Given the description of an element on the screen output the (x, y) to click on. 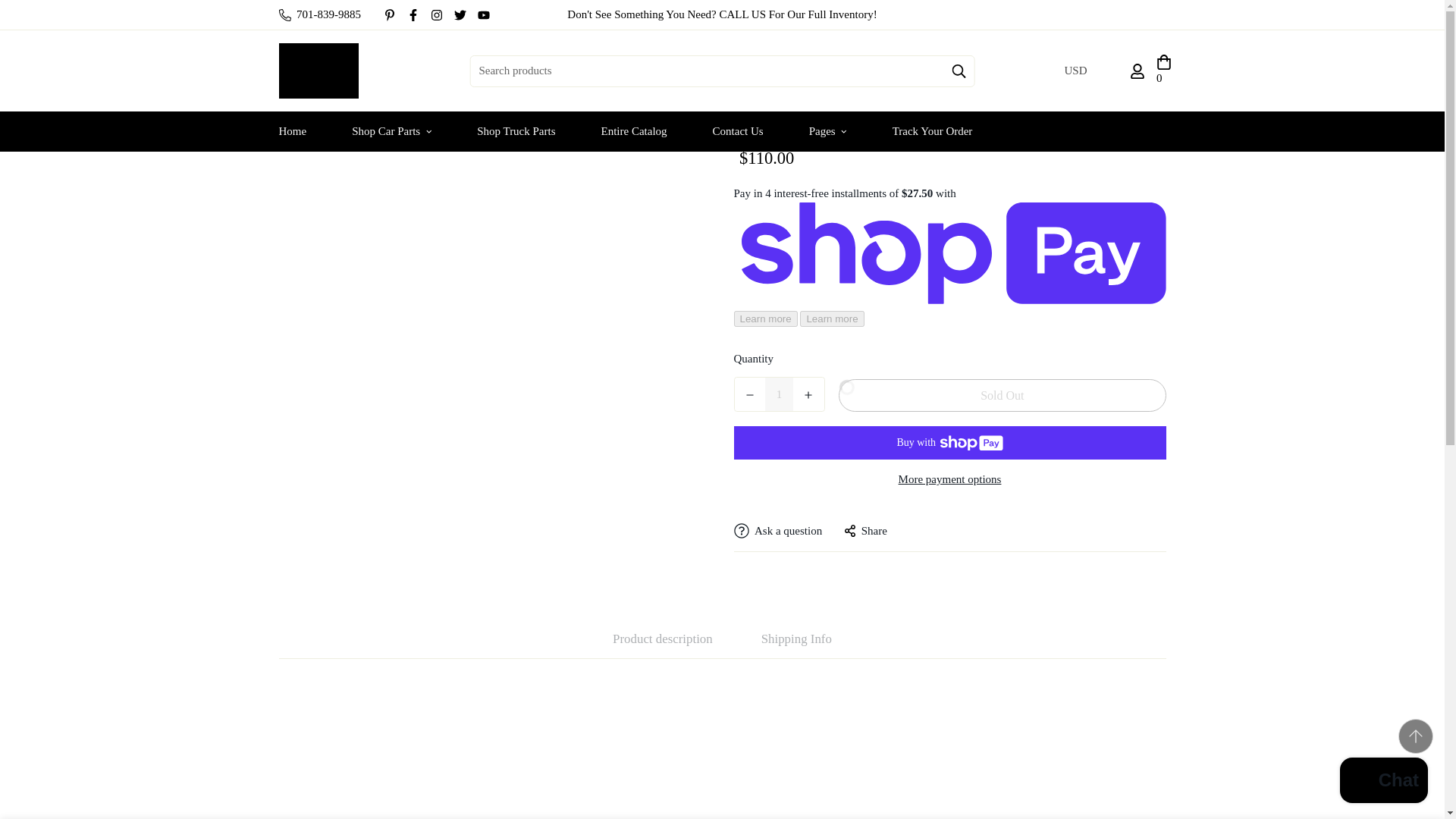
Shop Truck Parts (516, 131)
Shopify online store chat (1383, 781)
Home (293, 131)
Shop Car Parts (391, 131)
701-839-9885 (319, 14)
Back to the home page (578, 49)
Entire Catalog (634, 131)
